Given the description of an element on the screen output the (x, y) to click on. 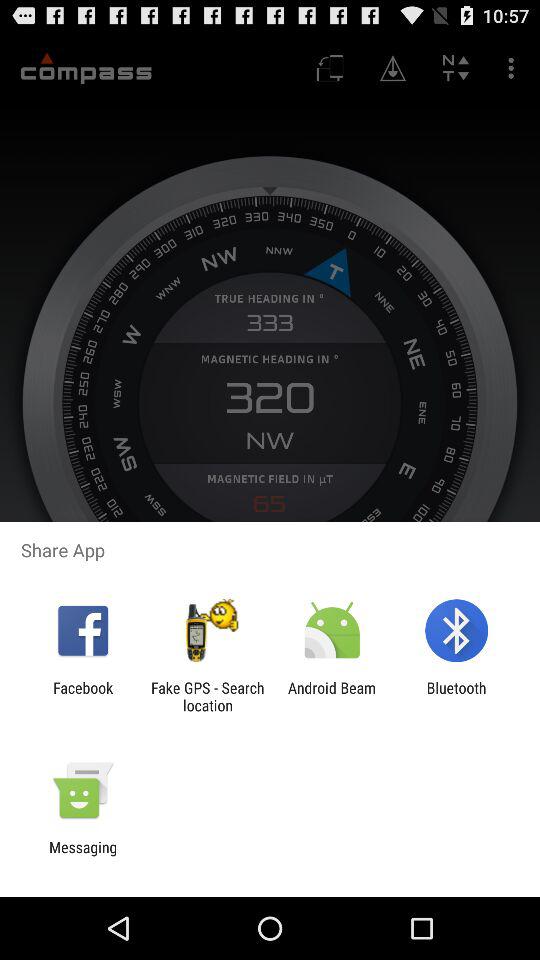
tap item next to the facebook icon (207, 696)
